Given the description of an element on the screen output the (x, y) to click on. 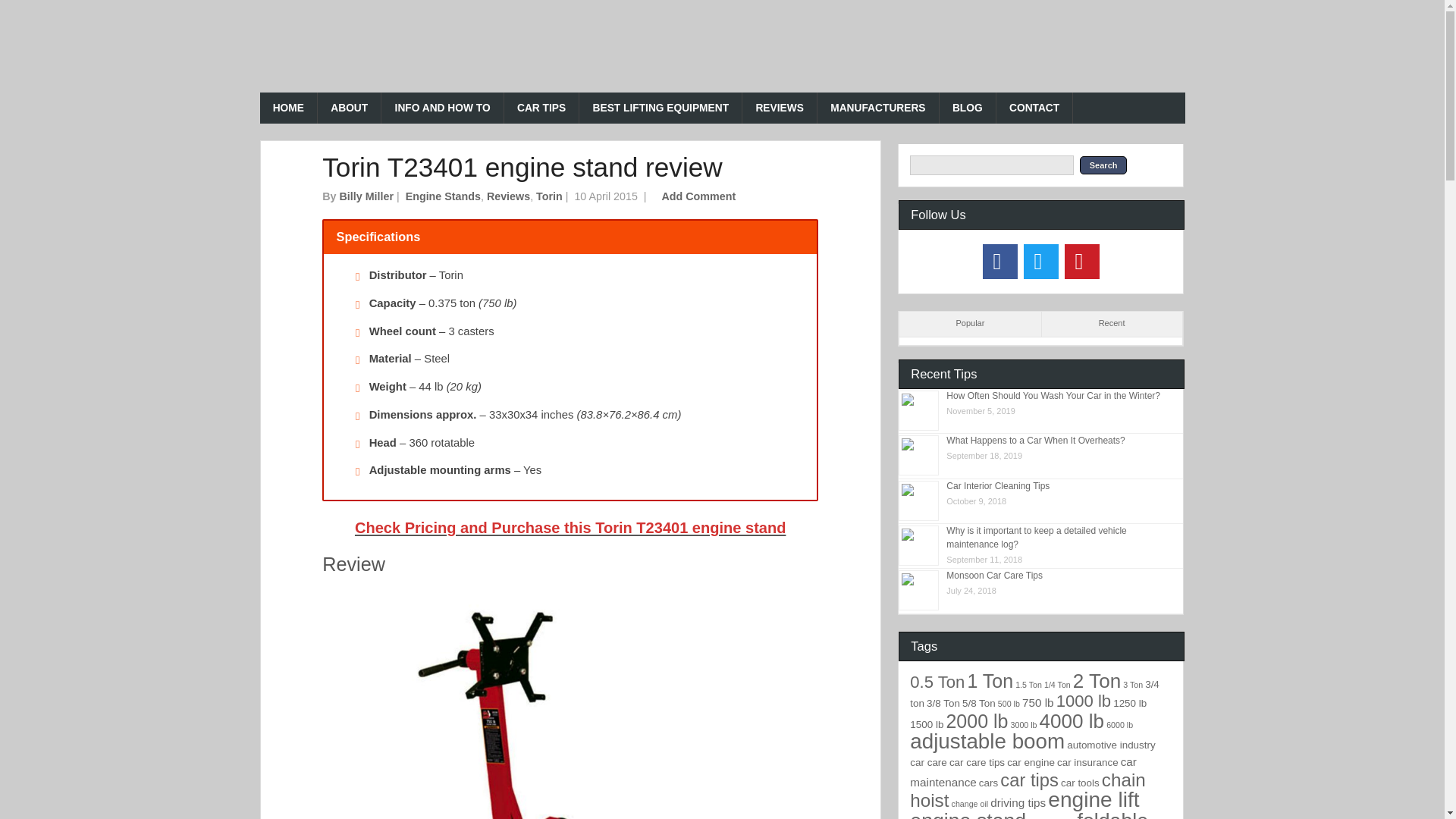
Engine Stands (443, 196)
BLOG (967, 107)
Check Pricing and Purchase this Torin T23401 engine stand (570, 527)
Facebook (999, 261)
Add Comment (699, 196)
Torin (548, 196)
Twitter (1040, 261)
REVIEWS (779, 107)
HOME (288, 107)
CAR TIPS (541, 107)
